Given the description of an element on the screen output the (x, y) to click on. 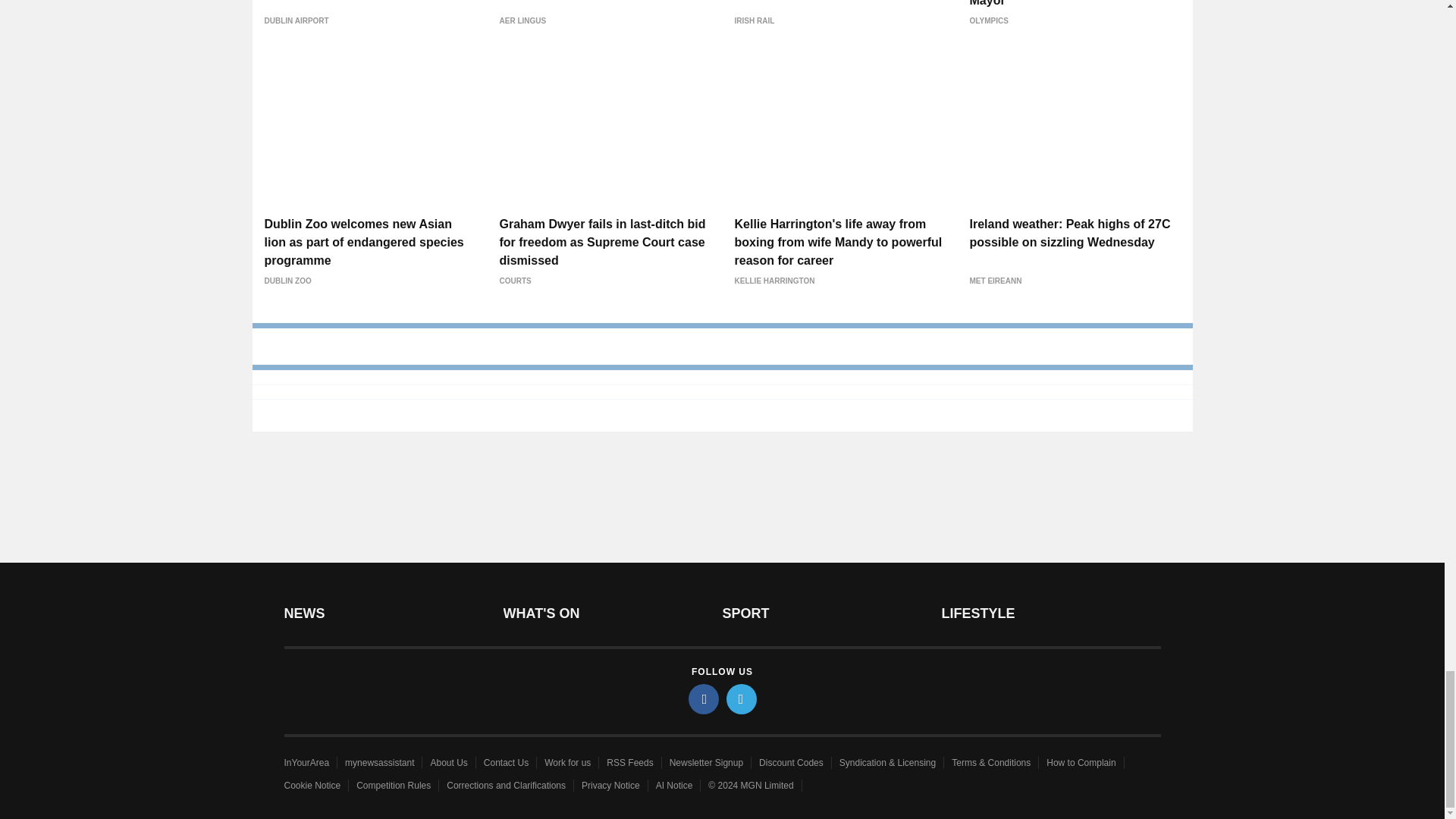
twitter (741, 698)
facebook (703, 698)
